Given the description of an element on the screen output the (x, y) to click on. 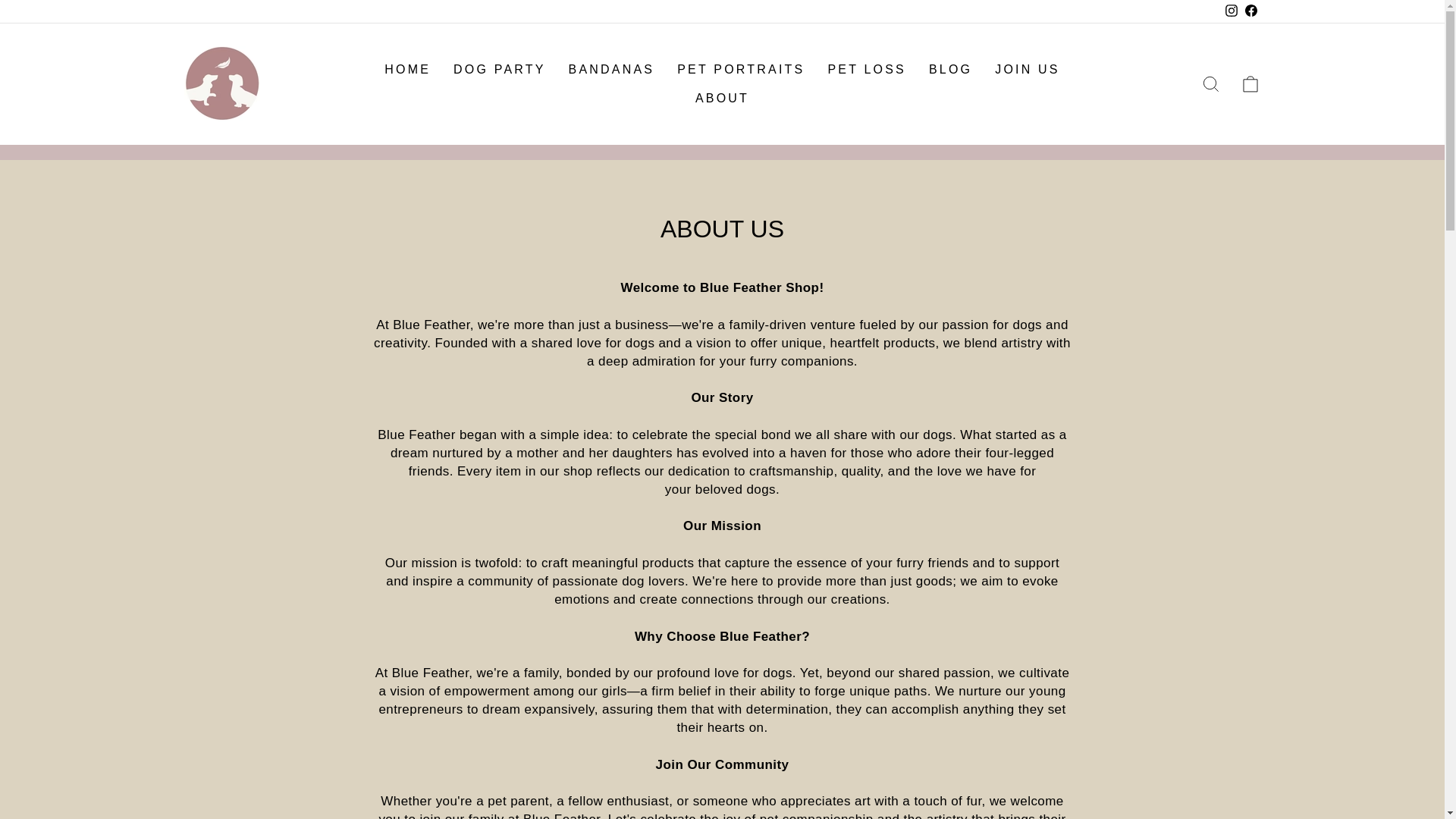
BANDANAS (611, 70)
ABOUT (722, 98)
HOME (407, 70)
SEARCH (1210, 83)
CART (1249, 83)
PET PORTRAITS (740, 70)
PET LOSS (866, 70)
DOG PARTY (499, 70)
BLOG (950, 70)
JOIN US (1027, 70)
